Given the description of an element on the screen output the (x, y) to click on. 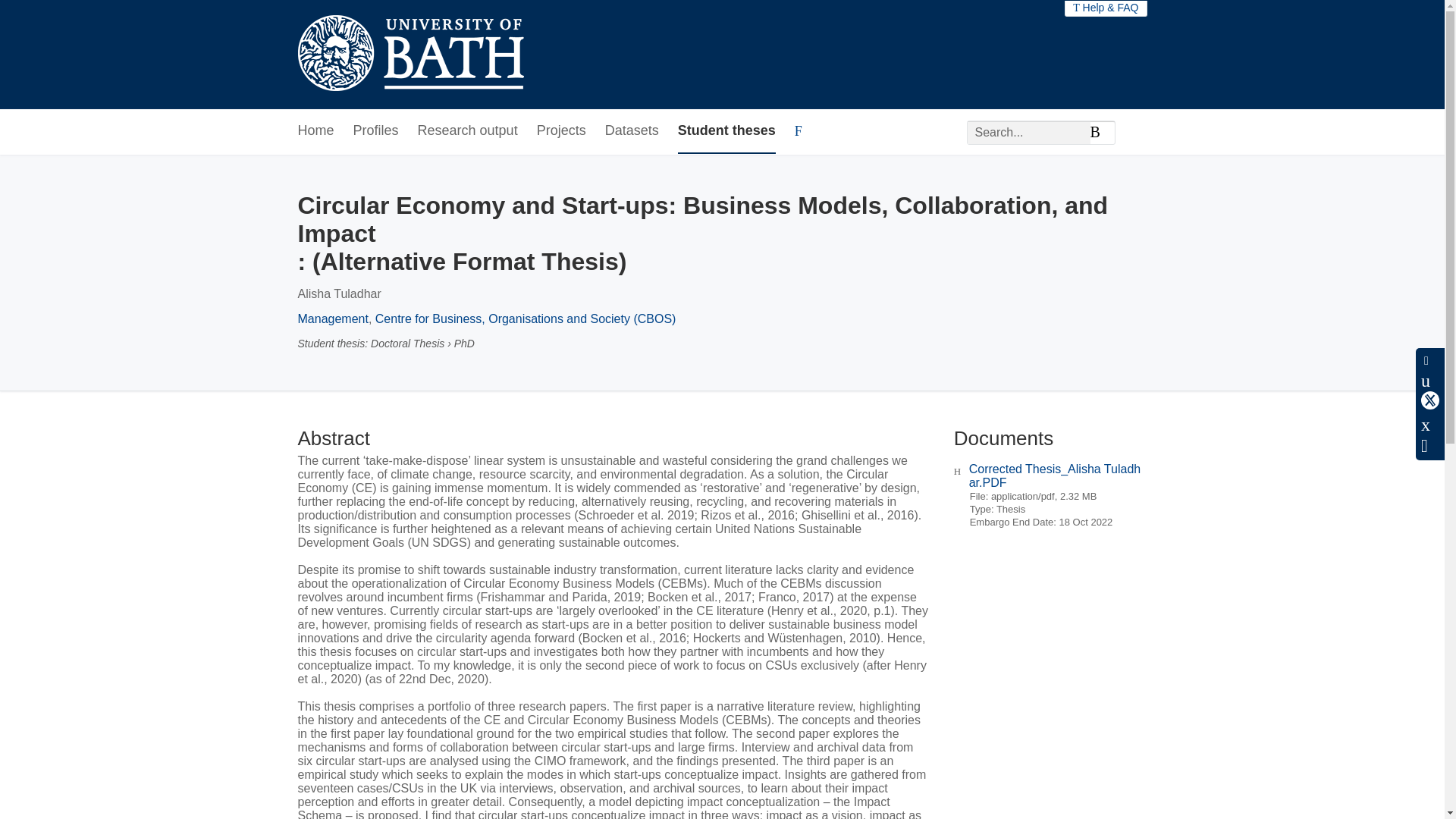
the University of Bath's research portal Home (409, 54)
Research output (467, 130)
Student theses (727, 130)
Profiles (375, 130)
Projects (561, 130)
Datasets (632, 130)
Management (332, 318)
